Given the description of an element on the screen output the (x, y) to click on. 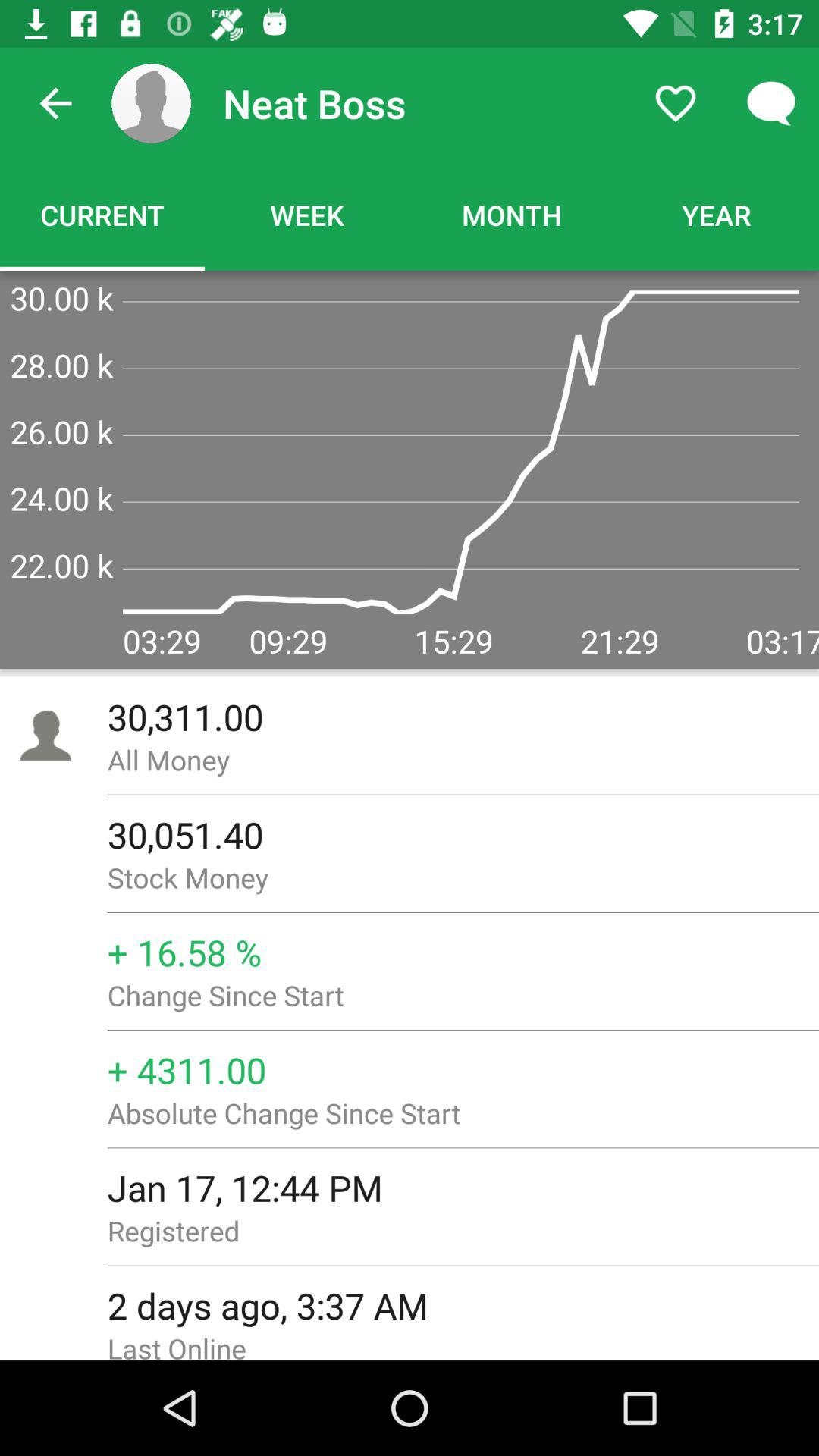
turn on the item to the left of the neat boss item (151, 103)
